Given the description of an element on the screen output the (x, y) to click on. 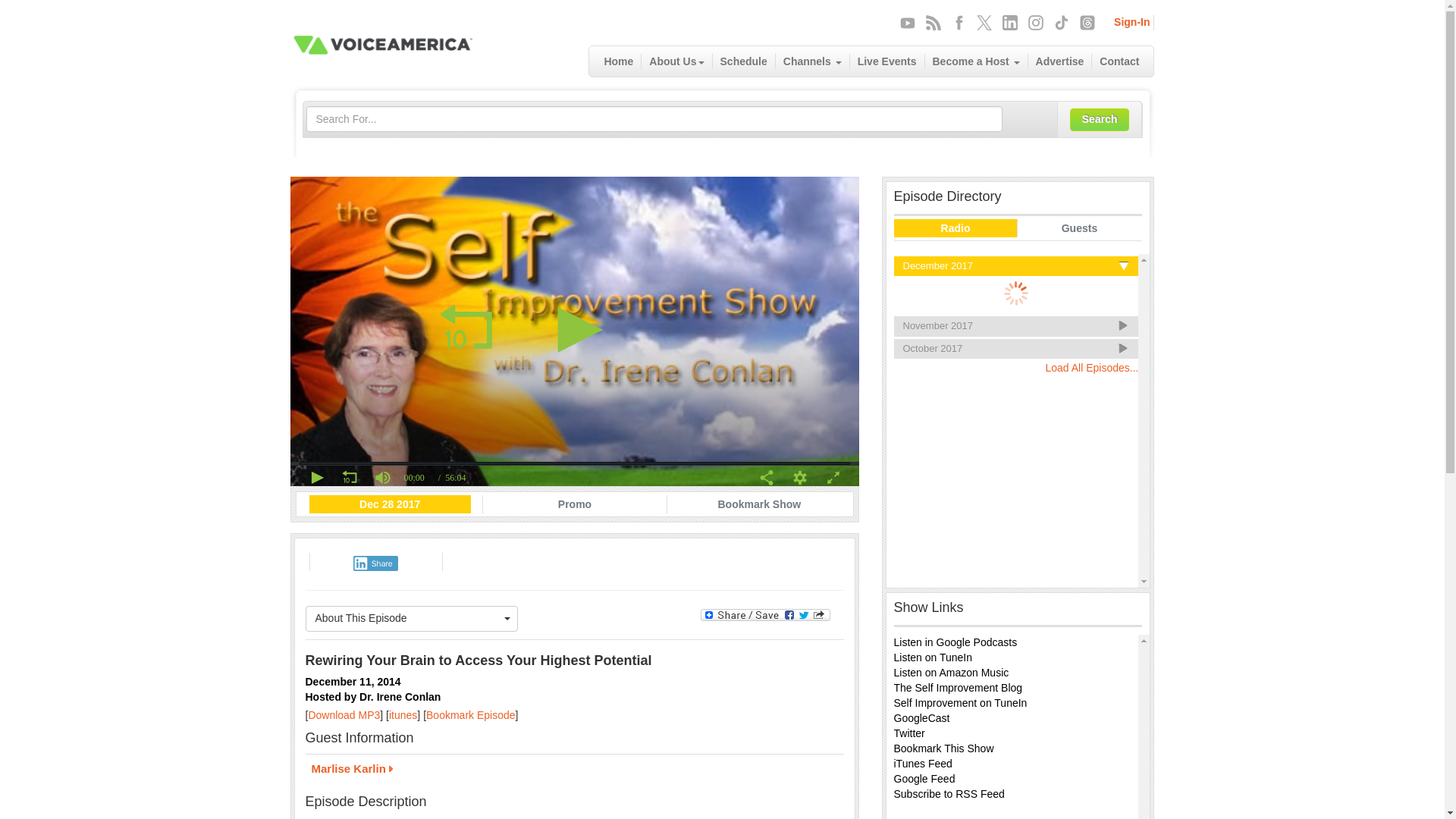
Schedule (744, 61)
Marlise Karlin (573, 770)
Home (618, 61)
Promo (575, 504)
Advertise (1060, 61)
Contact (1119, 61)
Search (1099, 119)
Sign-In (1131, 21)
Live Events (887, 61)
About Us (676, 61)
Share (375, 563)
Become a Host (975, 61)
Dec 28 2017 (389, 504)
Channels (813, 61)
